Given the description of an element on the screen output the (x, y) to click on. 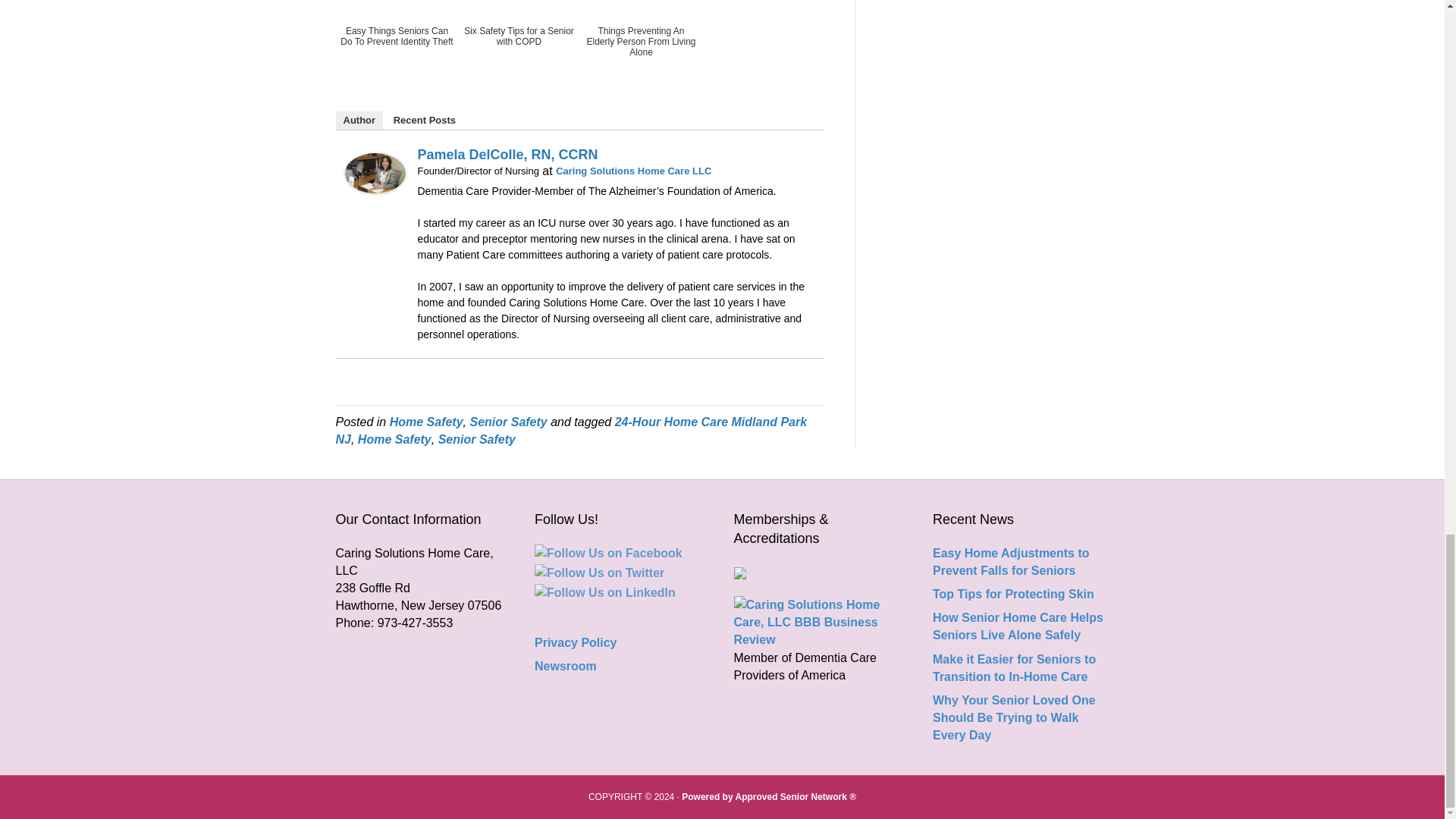
Follow Us on Facebook (608, 552)
Follow Us on LinkedIn (604, 592)
Follow Us on Twitter (598, 572)
Pamela DelColle, RN, CCRN (373, 172)
